Given the description of an element on the screen output the (x, y) to click on. 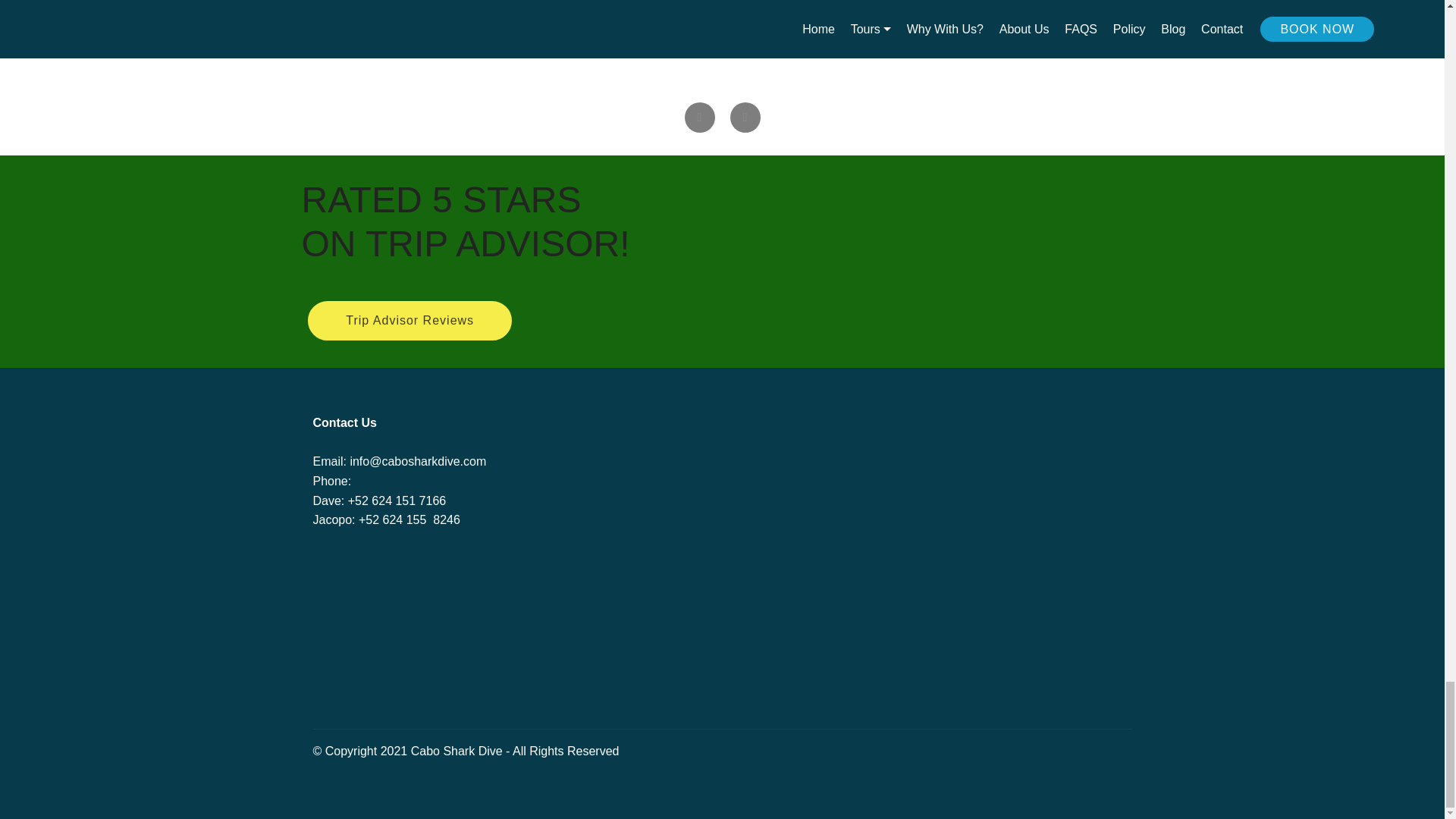
Previous (699, 117)
Trip Advisor Reviews (409, 320)
Next (744, 117)
